Given the description of an element on the screen output the (x, y) to click on. 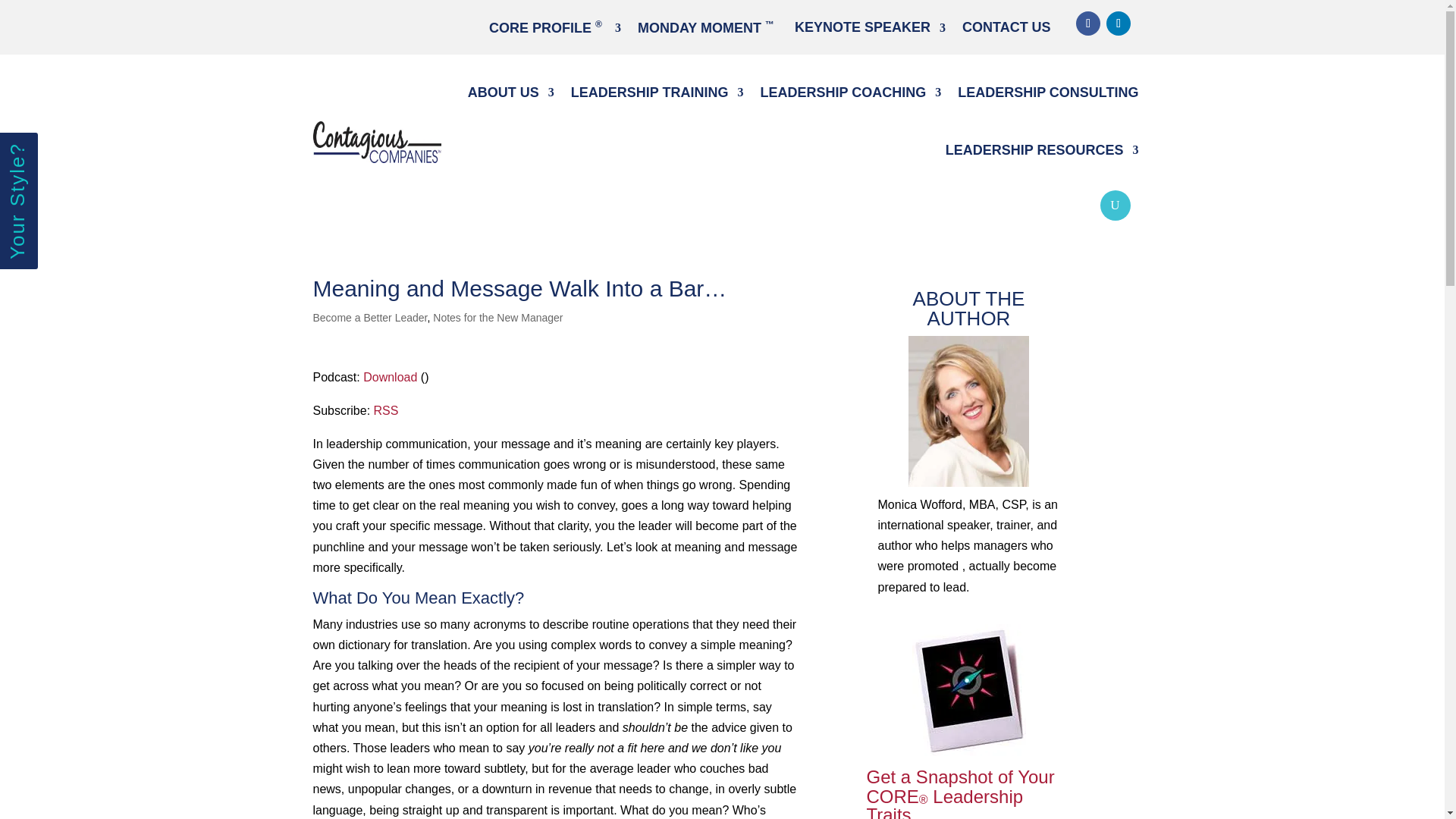
Follow on Facebook (1087, 23)
Subscribe via RSS (386, 410)
CONTACT US (1006, 31)
Follow on LinkedIn (1118, 23)
LEADERSHIP TRAINING (657, 92)
KEYNOTE SPEAKER (869, 31)
LEADERSHIP COACHING (850, 92)
Download (389, 377)
ABOUT US (510, 92)
